Given the description of an element on the screen output the (x, y) to click on. 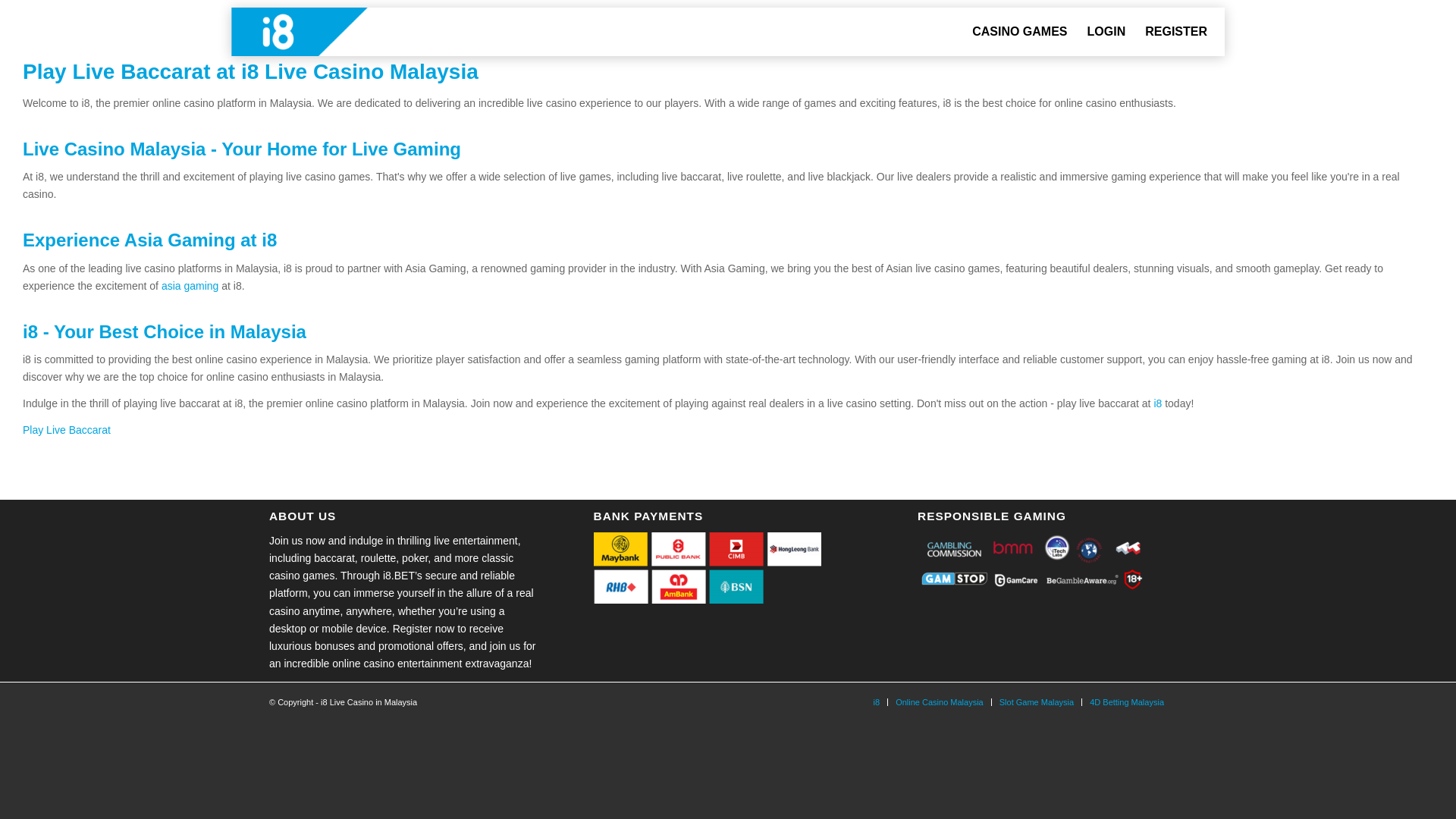
CASINO GAMES (1019, 31)
Online Casino Malaysia (939, 701)
Slot Game Malaysia (1036, 701)
REGISTER (1176, 31)
4D Betting Malaysia (1126, 701)
LOGIN (1106, 31)
asia gaming (190, 285)
Play Live Baccarat (66, 429)
Live Casino Malaysia (114, 148)
